Given the description of an element on the screen output the (x, y) to click on. 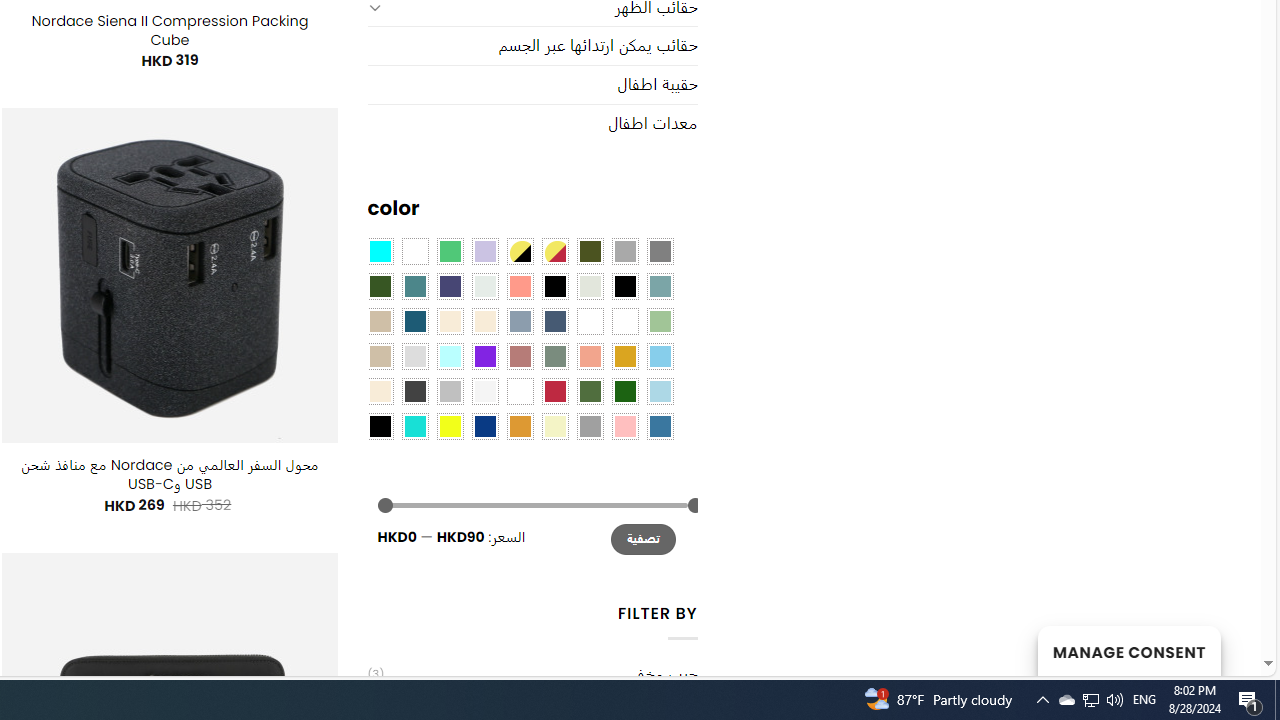
Forest (379, 285)
Brownie (379, 321)
All Black (554, 285)
Nordace Siena II Compression Packing Cube (169, 29)
Hale Navy (554, 321)
Ash Gray (589, 285)
Black-Brown (624, 285)
